Given the description of an element on the screen output the (x, y) to click on. 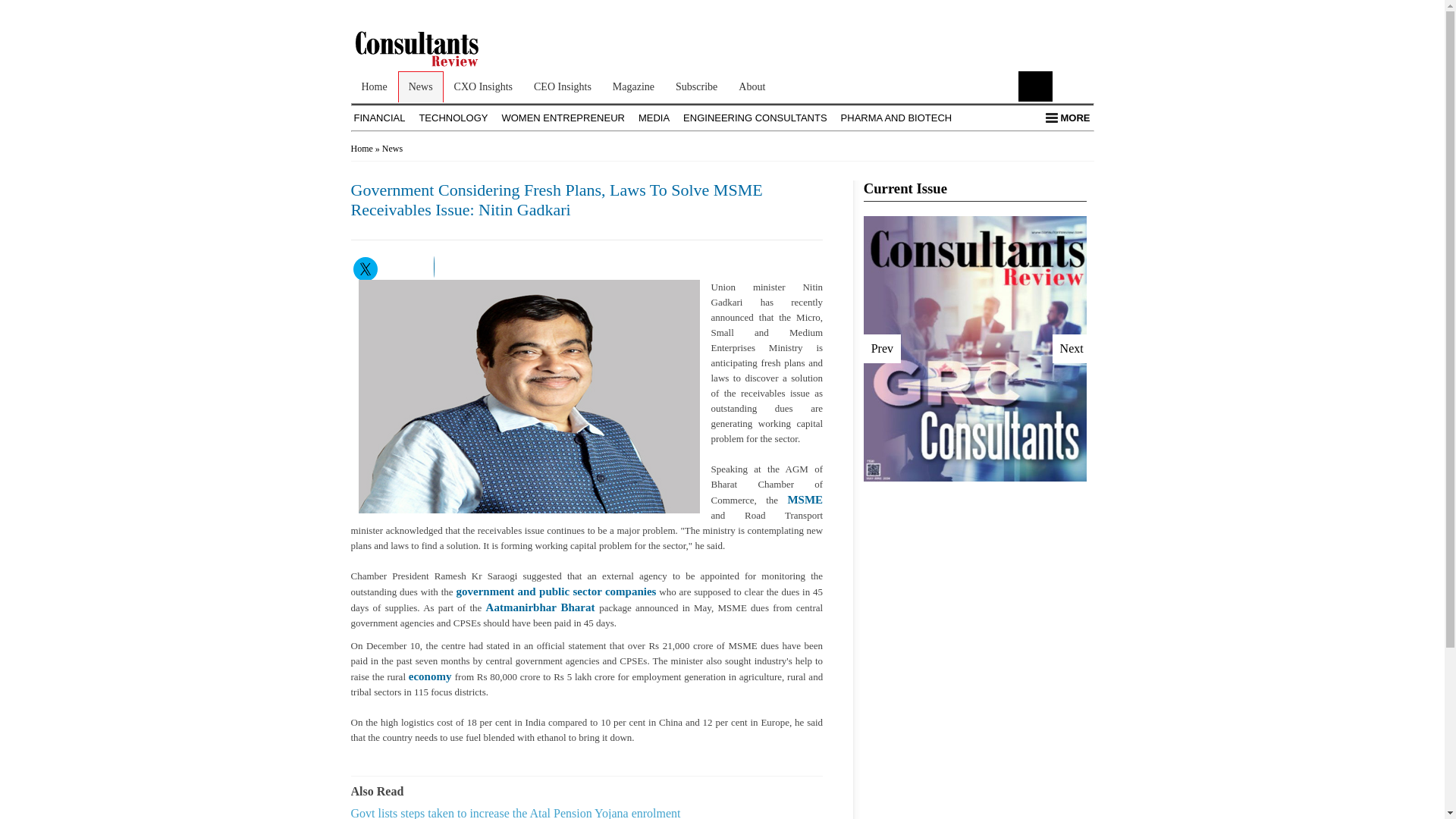
TECHNOLOGY (453, 117)
News (420, 86)
CXO Insights (483, 87)
GO (1034, 86)
GO (1034, 86)
CONSULTANTS REVIEW MAGAZINE (435, 63)
Home (373, 87)
GO (1034, 86)
CEO Insights (562, 87)
FINANCIAL (378, 117)
Consultants Review (435, 48)
Subscribe (696, 87)
Magazine (633, 87)
About (752, 87)
